Given the description of an element on the screen output the (x, y) to click on. 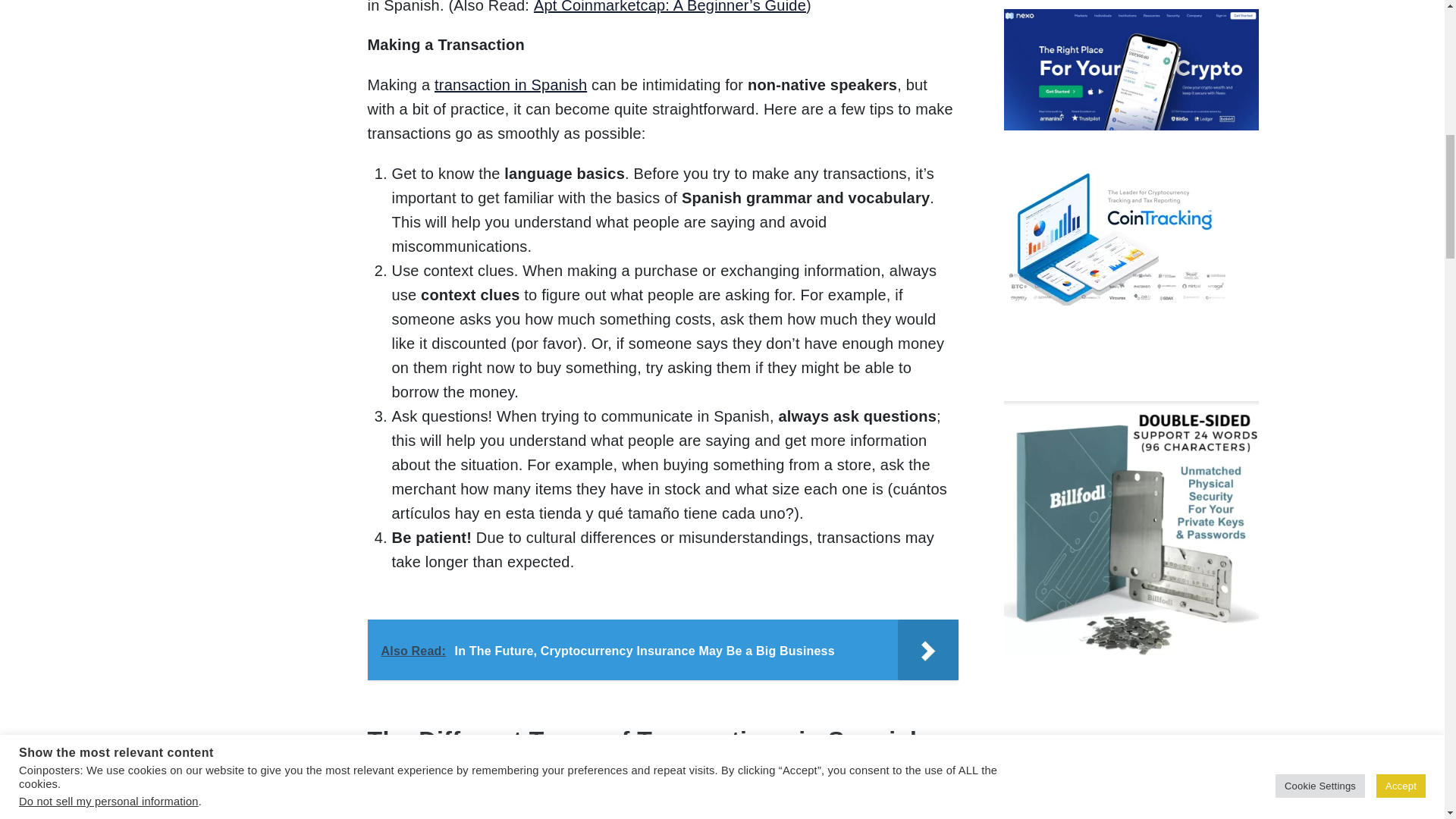
transaction in Spanish (509, 84)
